Given the description of an element on the screen output the (x, y) to click on. 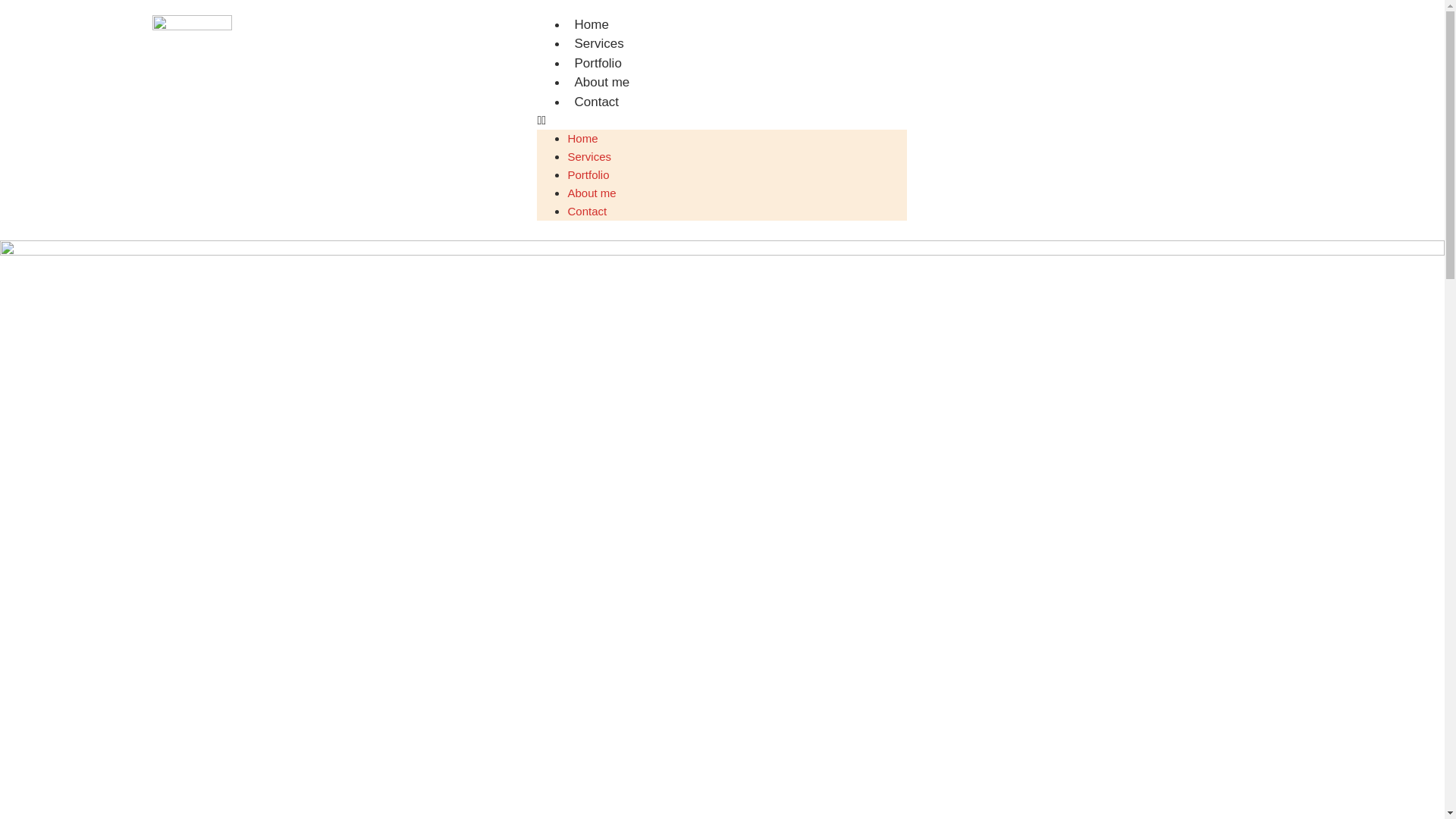
About me Element type: text (601, 82)
Portfolio Element type: text (597, 63)
Portfolio Element type: text (587, 174)
Contact Element type: text (596, 101)
Services Element type: text (589, 156)
Home Element type: text (582, 137)
About me Element type: text (591, 192)
Contact Element type: text (586, 210)
Home Element type: text (591, 24)
Services Element type: text (598, 43)
